Given the description of an element on the screen output the (x, y) to click on. 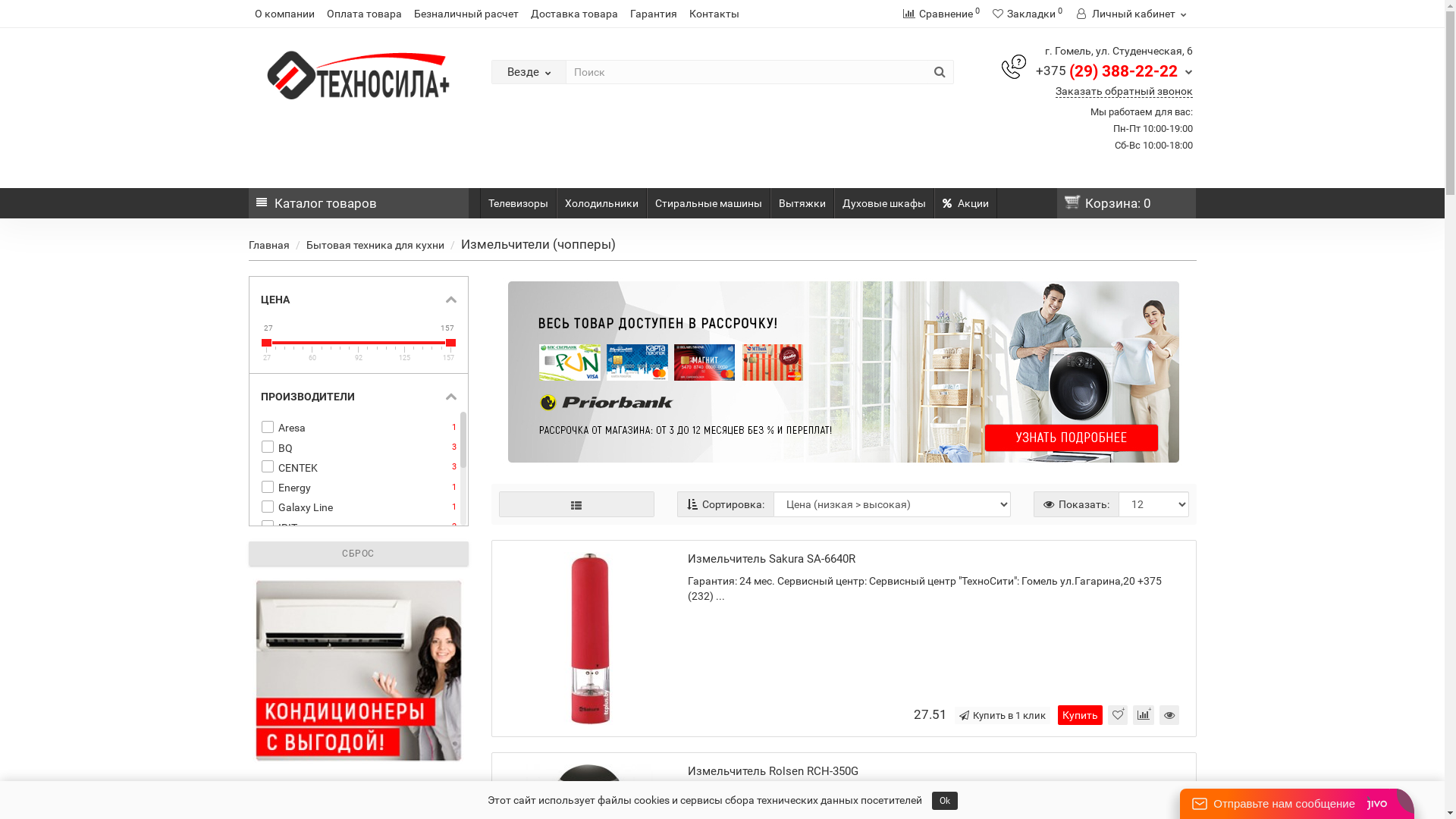
Ok Element type: text (944, 800)
+375 (29) 388-22-22 Element type: text (1113, 70)
